Given the description of an element on the screen output the (x, y) to click on. 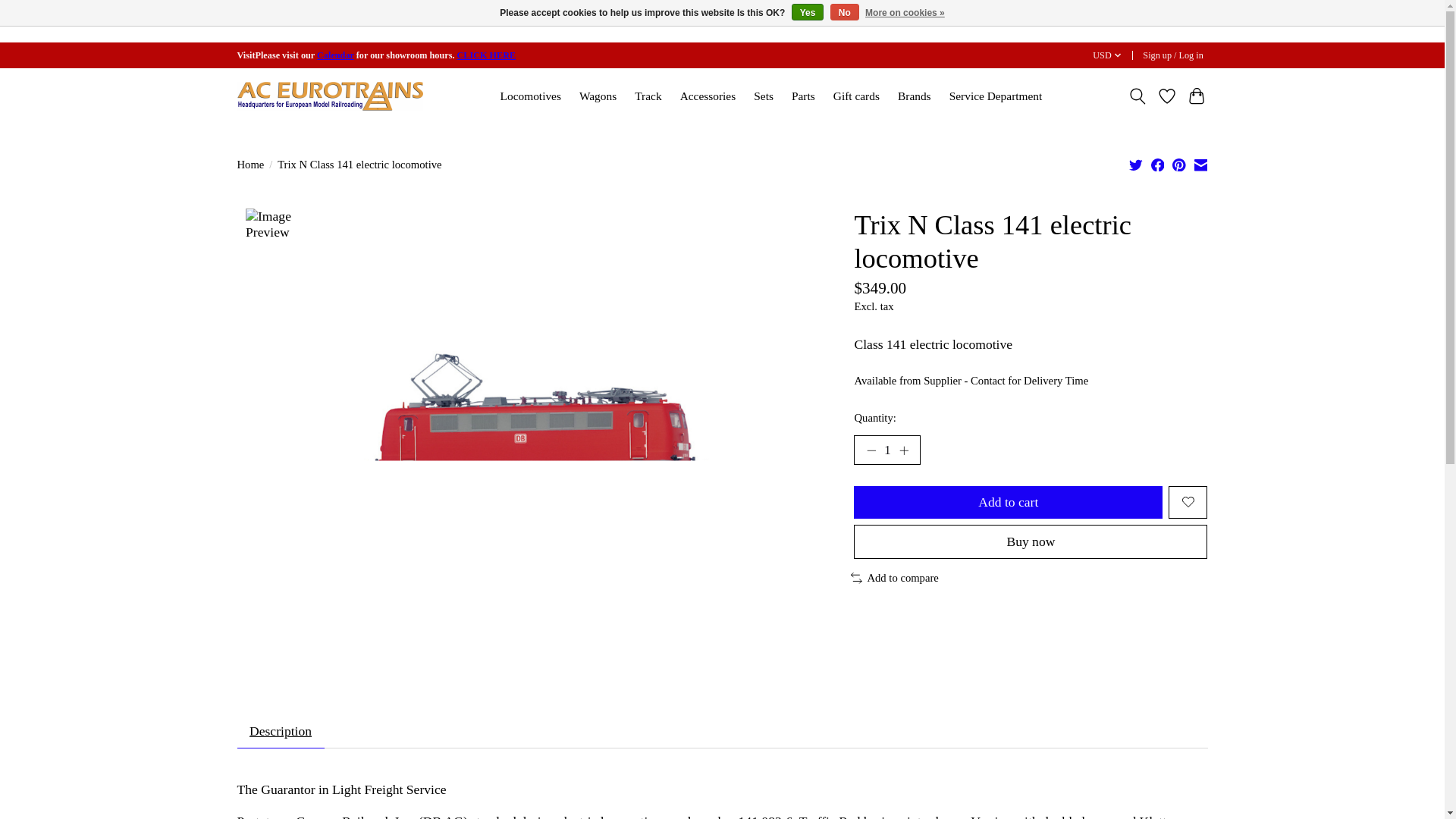
Gift cards (856, 96)
Calendar (335, 54)
Track (647, 96)
Wagons (598, 96)
Locomotives (530, 96)
AC Eurotrains (328, 95)
CLICK HERE (486, 54)
1 (886, 450)
Parts (803, 96)
My account (1173, 55)
